Given the description of an element on the screen output the (x, y) to click on. 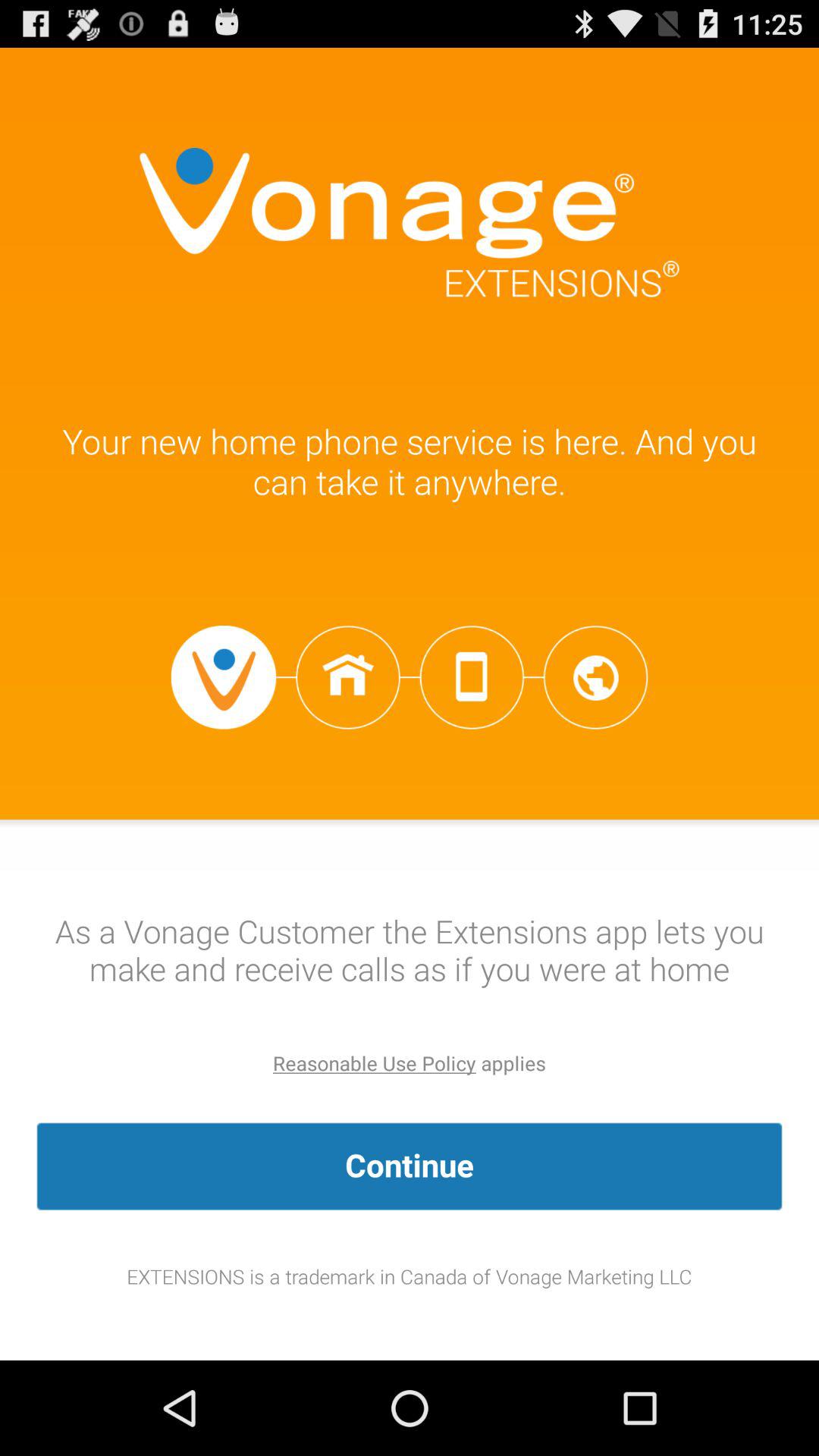
turn on app below reasonable use policy (409, 1166)
